Given the description of an element on the screen output the (x, y) to click on. 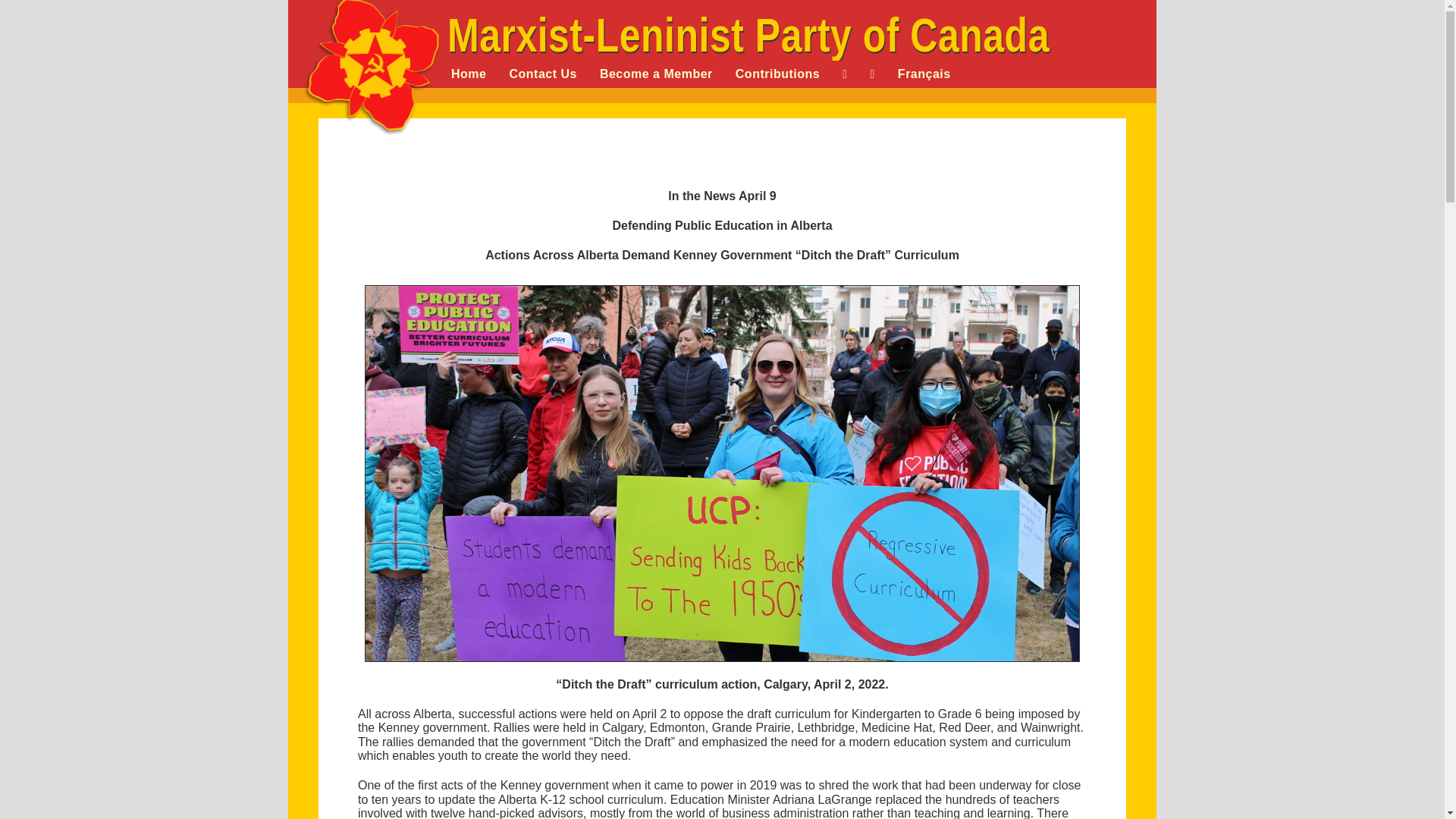
Contributions (777, 73)
Home (468, 73)
Marxist-Leninist Party of Canada (747, 30)
Become a Member (655, 73)
Contact Us (542, 73)
